Given the description of an element on the screen output the (x, y) to click on. 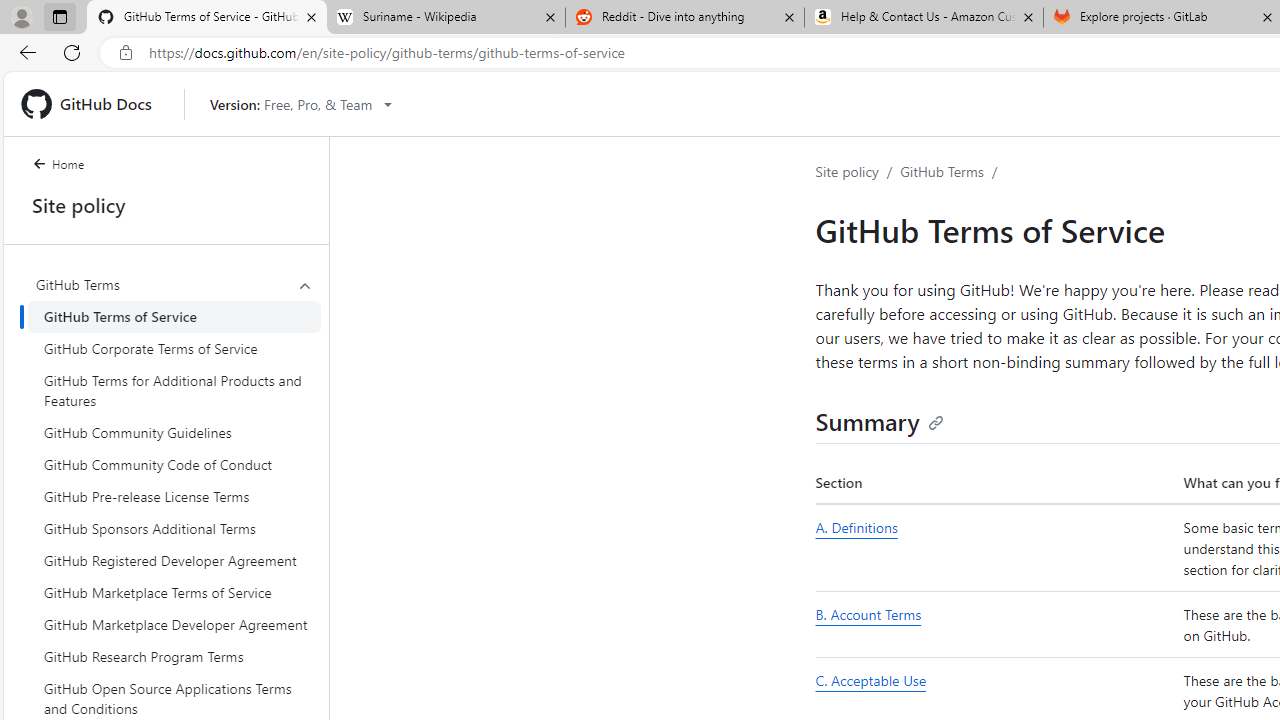
GitHub Marketplace Developer Agreement (174, 624)
GitHub Corporate Terms of Service (174, 348)
